Given the description of an element on the screen output the (x, y) to click on. 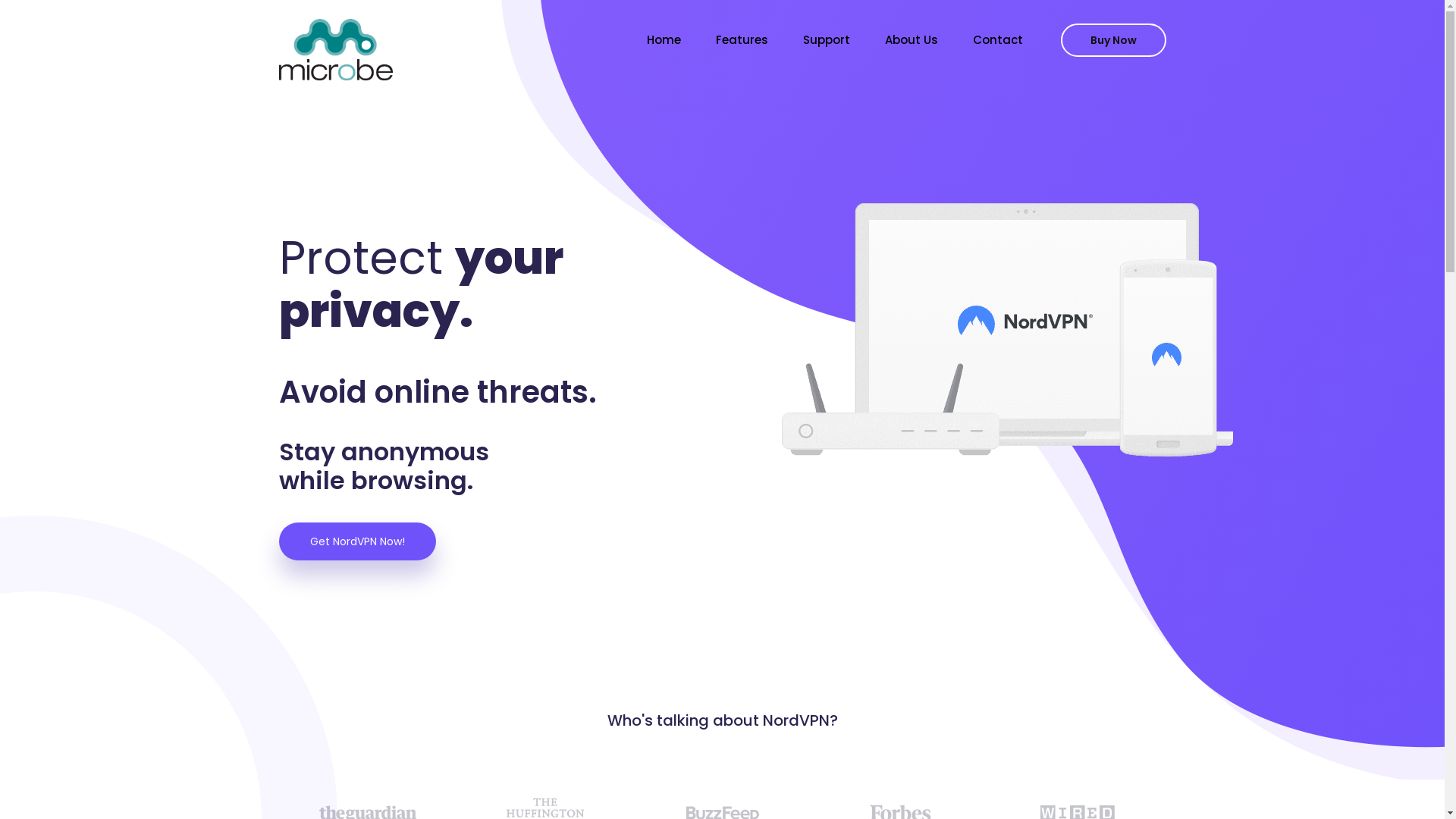
Support Element type: text (825, 39)
Features Element type: text (741, 39)
Home Element type: text (663, 39)
About Us Element type: text (910, 39)
Get NordVPN Now! Element type: text (357, 541)
Contact Element type: text (997, 39)
Buy Now Element type: text (1112, 39)
